Given the description of an element on the screen output the (x, y) to click on. 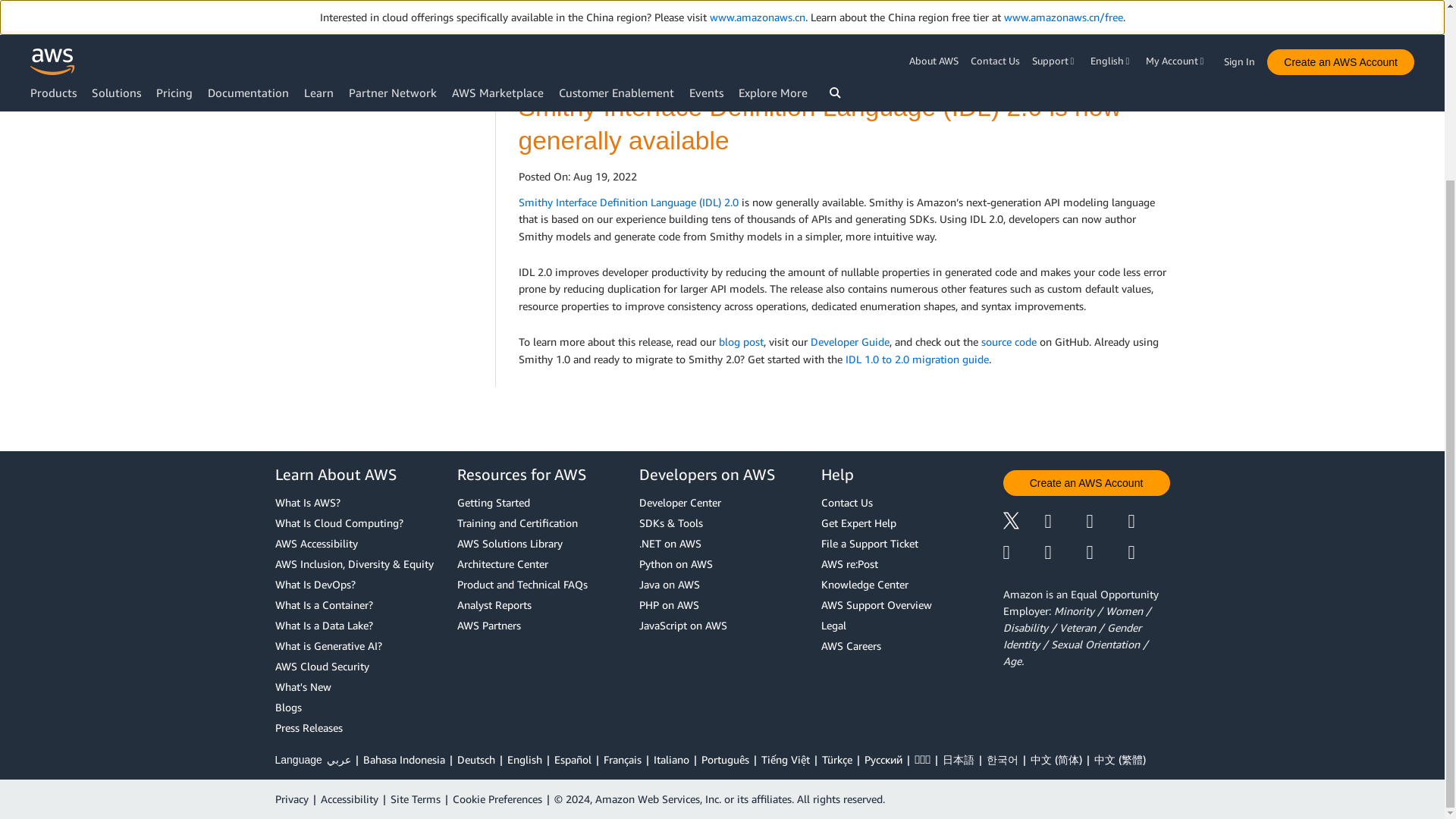
Podcast (1106, 552)
YouTube (1065, 552)
Twitter (1023, 522)
Press Releases (358, 727)
Facebook (1065, 522)
Linkedin (1106, 522)
Twitch (1023, 552)
Instagram (1149, 522)
